Given the description of an element on the screen output the (x, y) to click on. 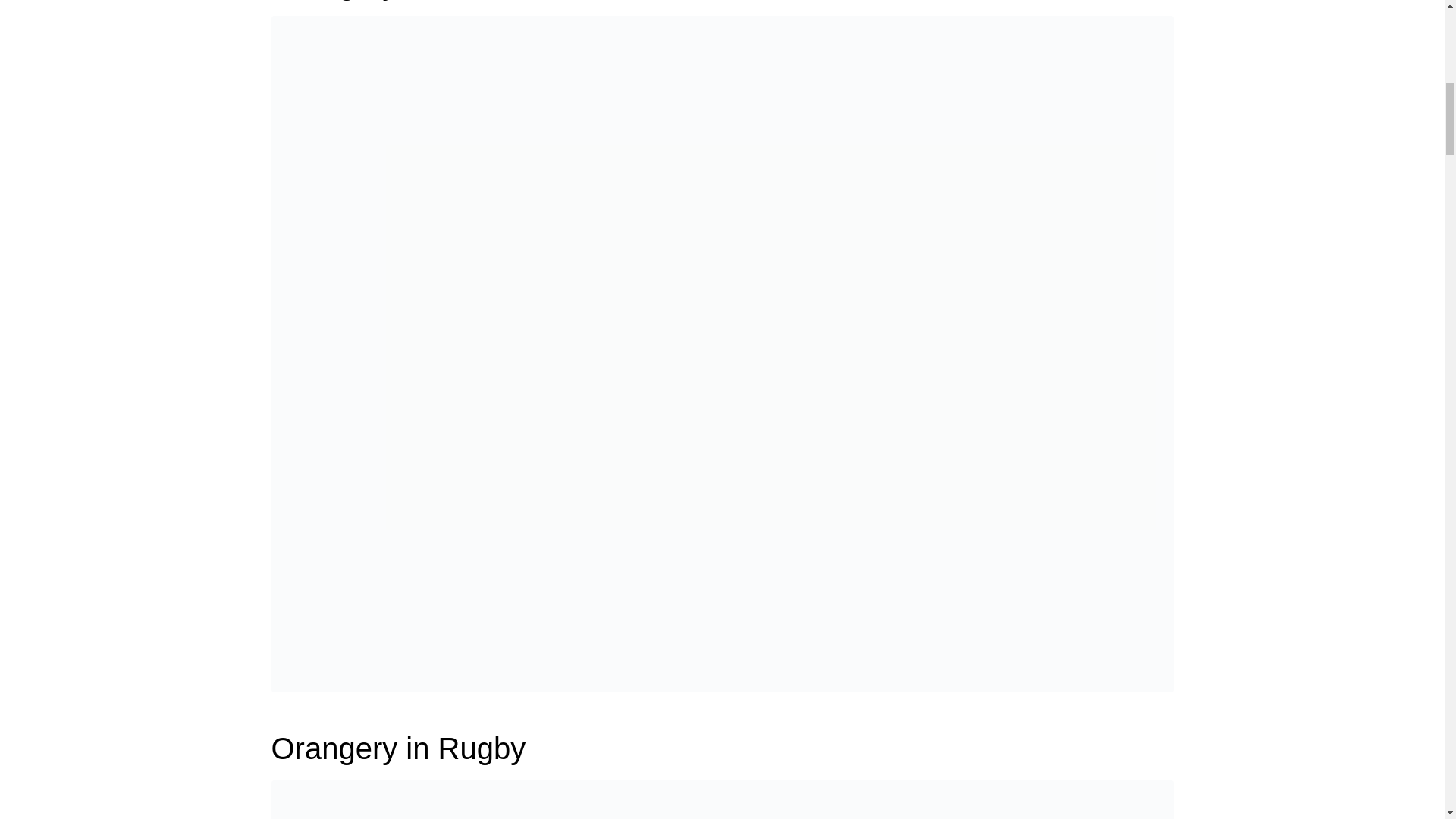
Orangery in Bournville (721, 352)
Orangery in Rugby (397, 748)
